Given the description of an element on the screen output the (x, y) to click on. 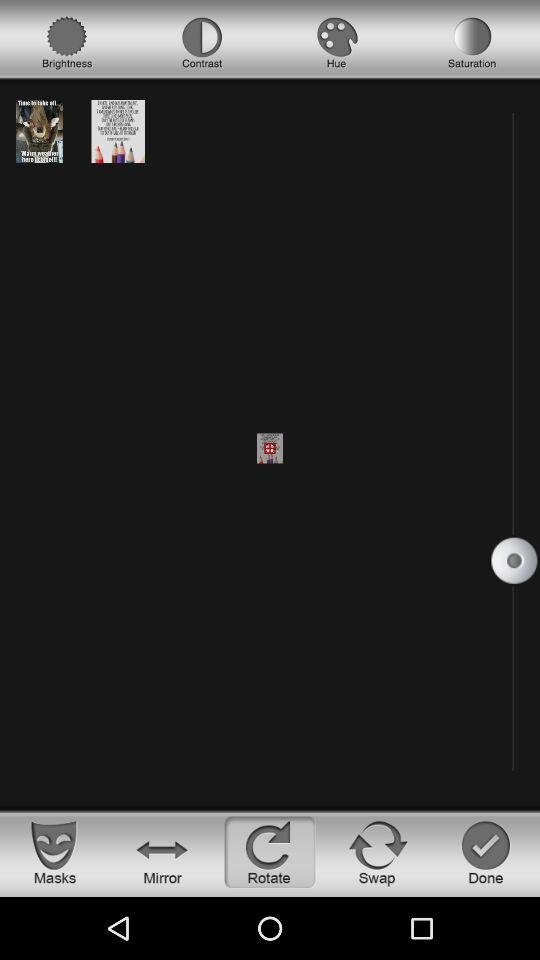
saturation toggle (472, 43)
